Given the description of an element on the screen output the (x, y) to click on. 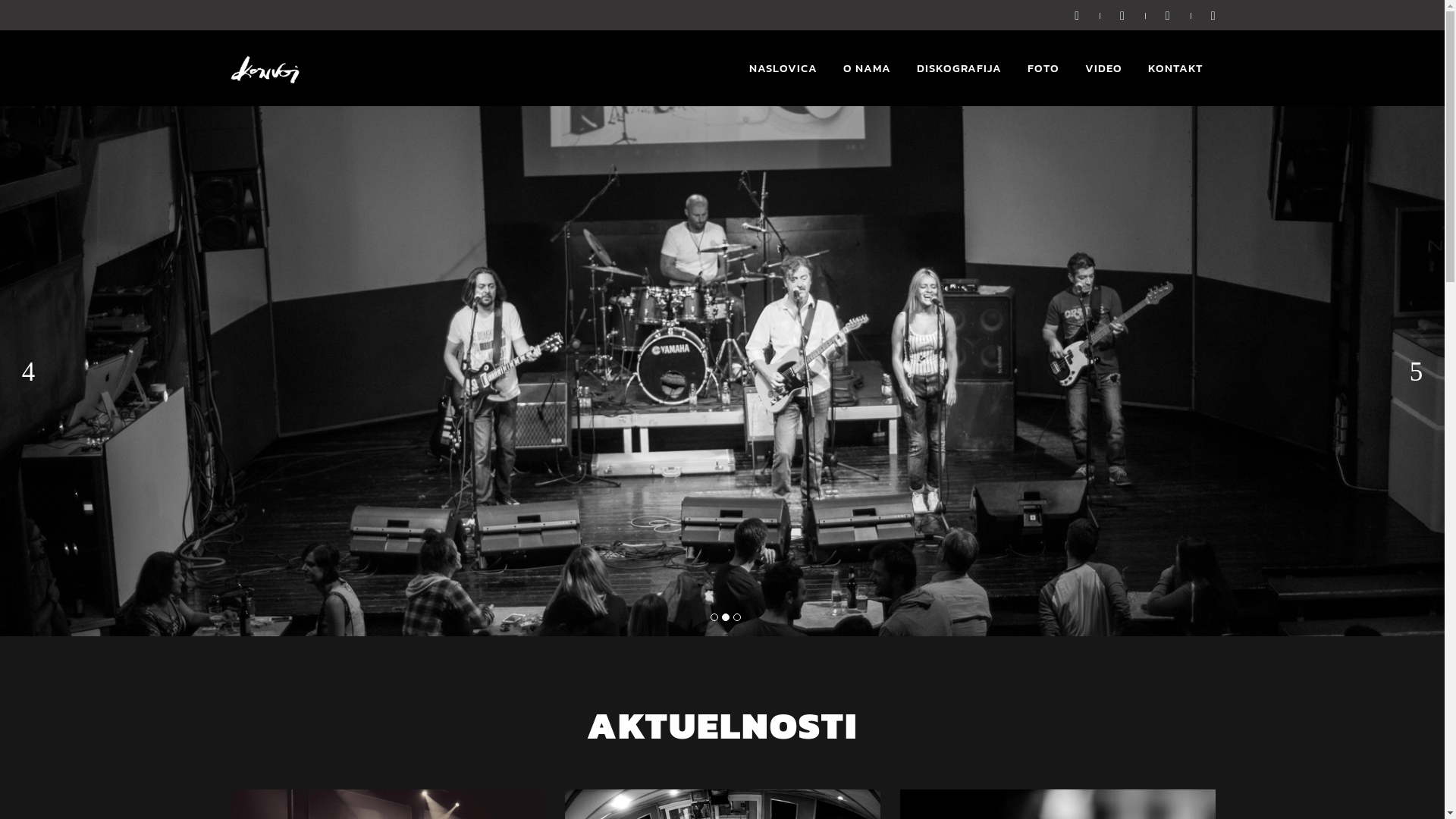
NASLOVICA Element type: text (782, 68)
O NAMA Element type: text (866, 68)
DISKOGRAFIJA Element type: text (958, 68)
KONTAKT Element type: text (1174, 68)
VIDEO Element type: text (1103, 68)
FOTO Element type: text (1043, 68)
